Given the description of an element on the screen output the (x, y) to click on. 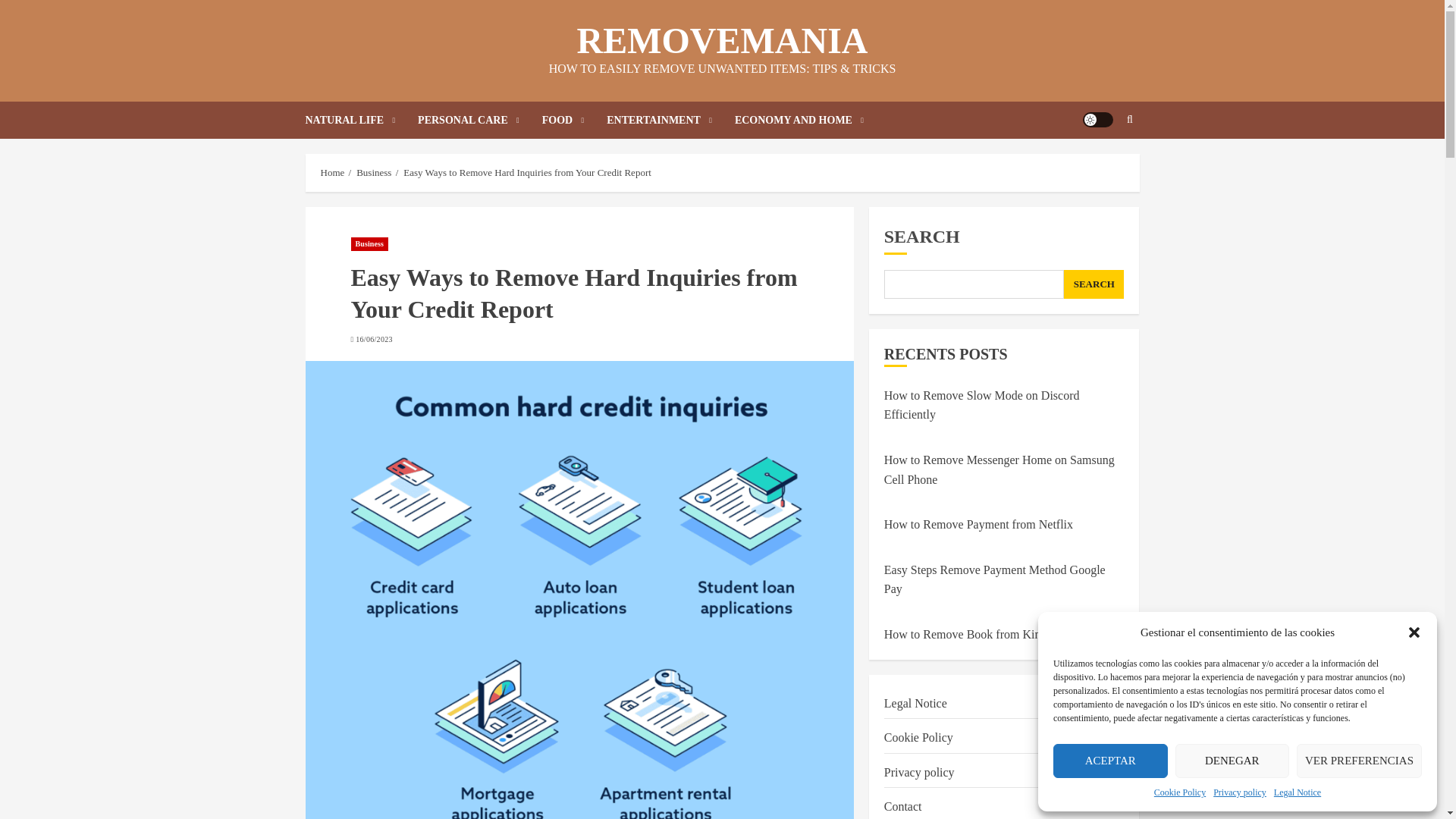
Legal Notice (1297, 792)
DENEGAR (1232, 760)
ECONOMY AND HOME (799, 119)
ACEPTAR (1109, 760)
NATURAL LIFE (360, 119)
Cookie Policy (1179, 792)
VER PREFERENCIAS (1359, 760)
ENTERTAINMENT (671, 119)
REMOVEMANIA (721, 40)
FOOD (574, 119)
PERSONAL CARE (479, 119)
Privacy policy (1239, 792)
